Given the description of an element on the screen output the (x, y) to click on. 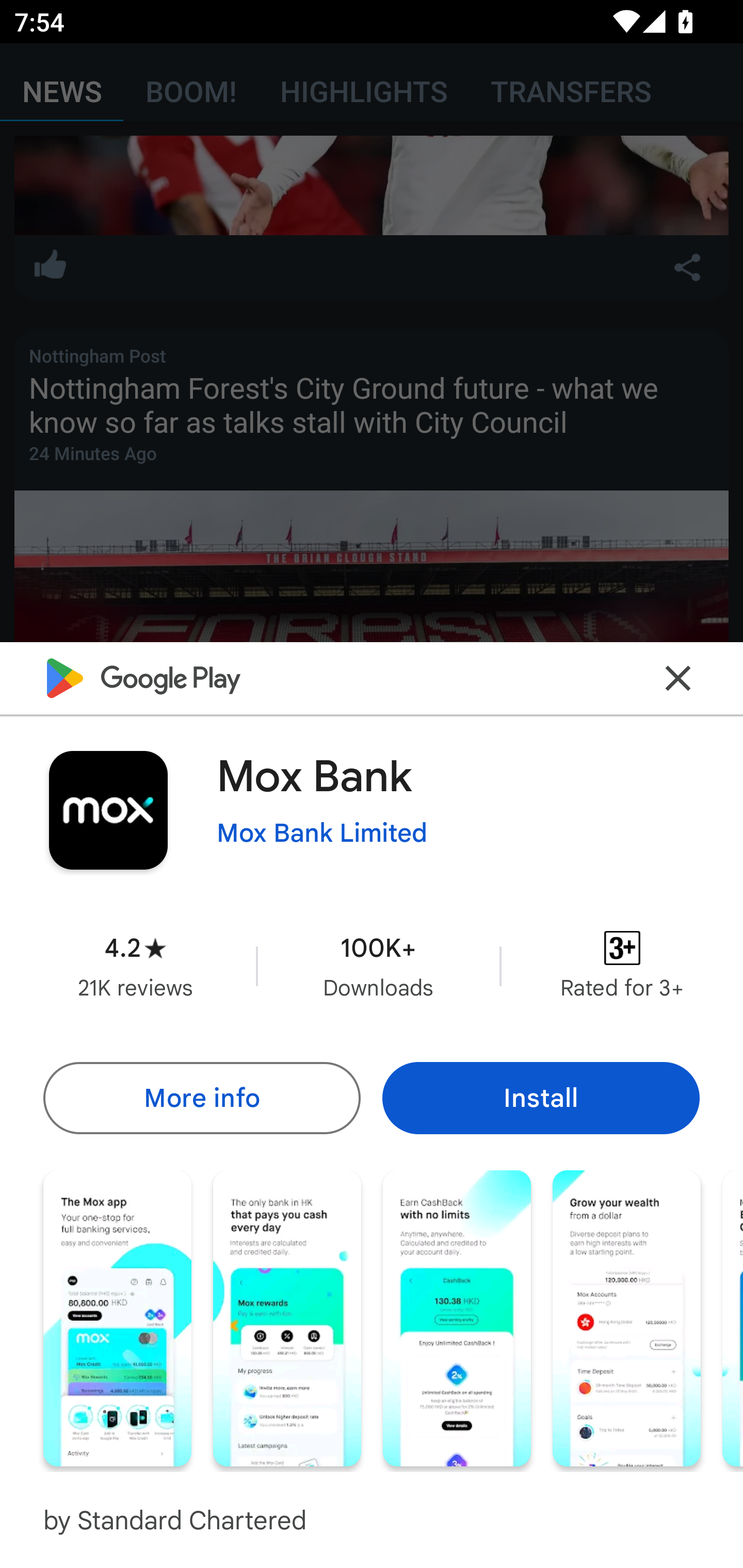
Close (677, 678)
Image of app or game icon for Mox Bank (108, 809)
Mox Bank Limited (321, 832)
More info (201, 1097)
Install (540, 1097)
Screenshot "1" of "7" (117, 1317)
Screenshot "2" of "7" (287, 1317)
Screenshot "3" of "7" (456, 1317)
Screenshot "4" of "7" (626, 1317)
